Given the description of an element on the screen output the (x, y) to click on. 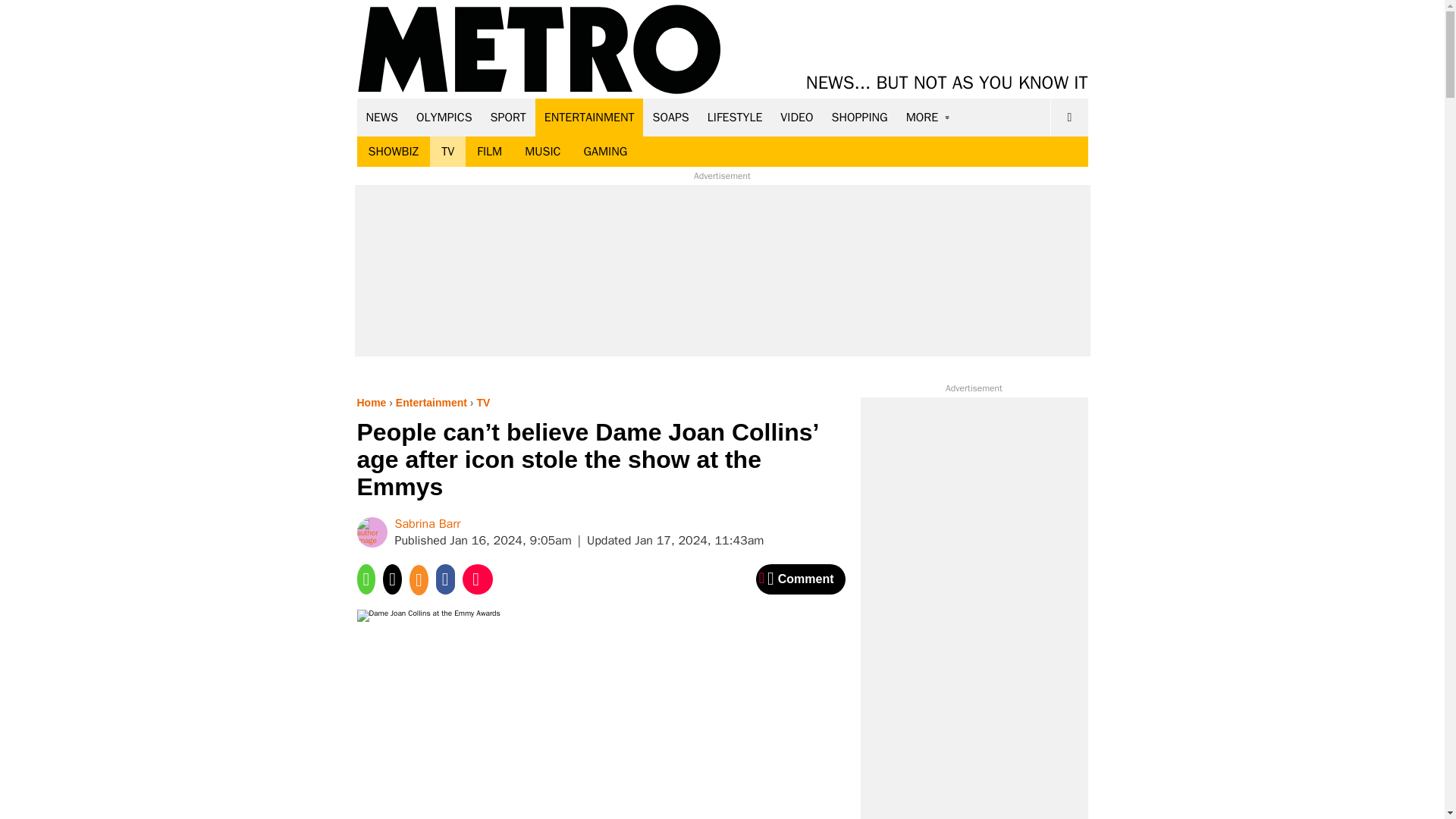
NEWS (381, 117)
SOAPS (670, 117)
TV (447, 151)
ENTERTAINMENT (589, 117)
SPORT (508, 117)
LIFESTYLE (734, 117)
OLYMPICS (444, 117)
FILM (489, 151)
SHOWBIZ (392, 151)
Metro (539, 50)
MUSIC (542, 151)
GAMING (605, 151)
